Given the description of an element on the screen output the (x, y) to click on. 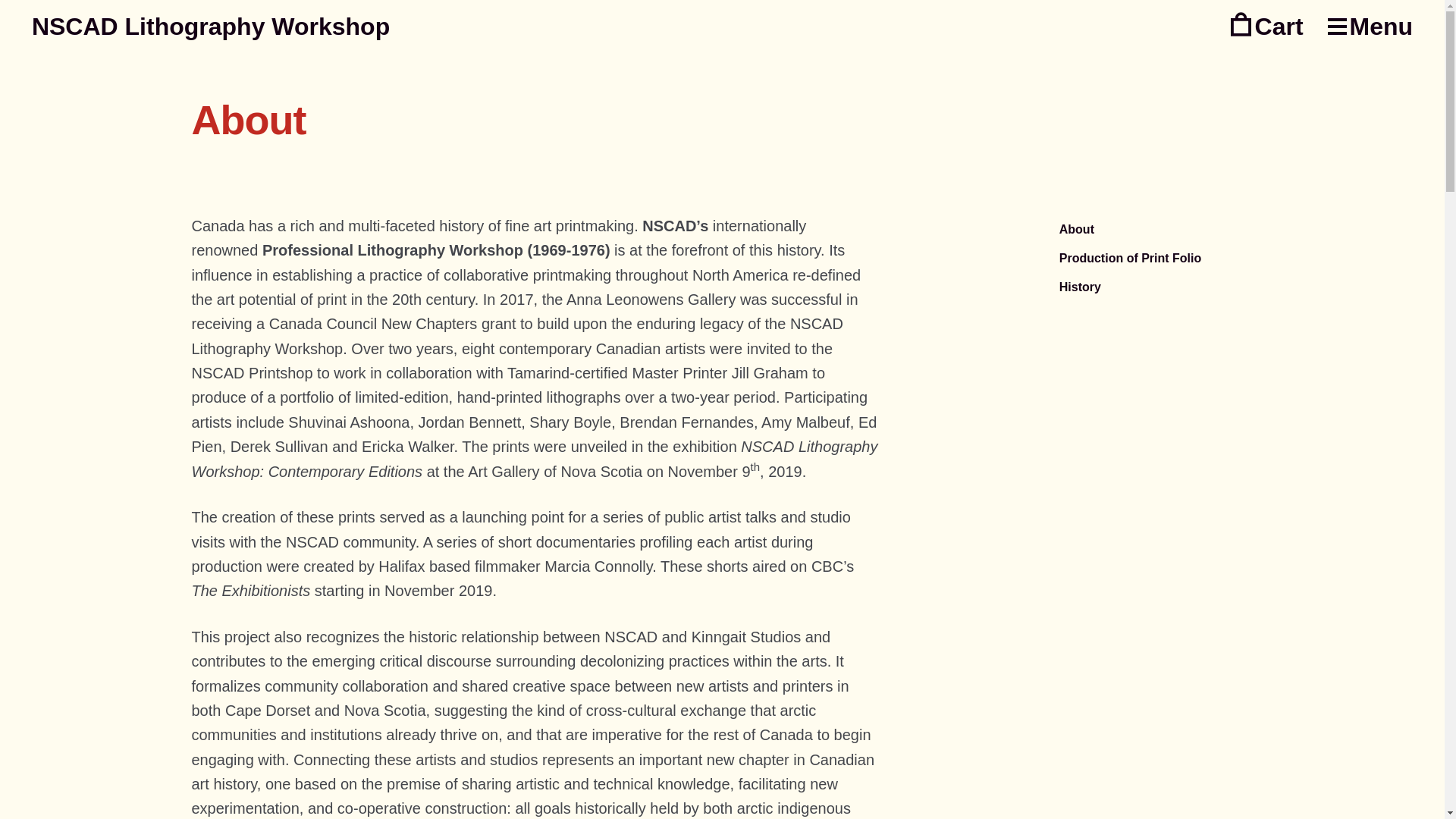
Menu (1370, 26)
Production of Print Folio (1240, 258)
About (1240, 229)
History (1240, 287)
NSCAD Lithography Workshop (211, 26)
